Given the description of an element on the screen output the (x, y) to click on. 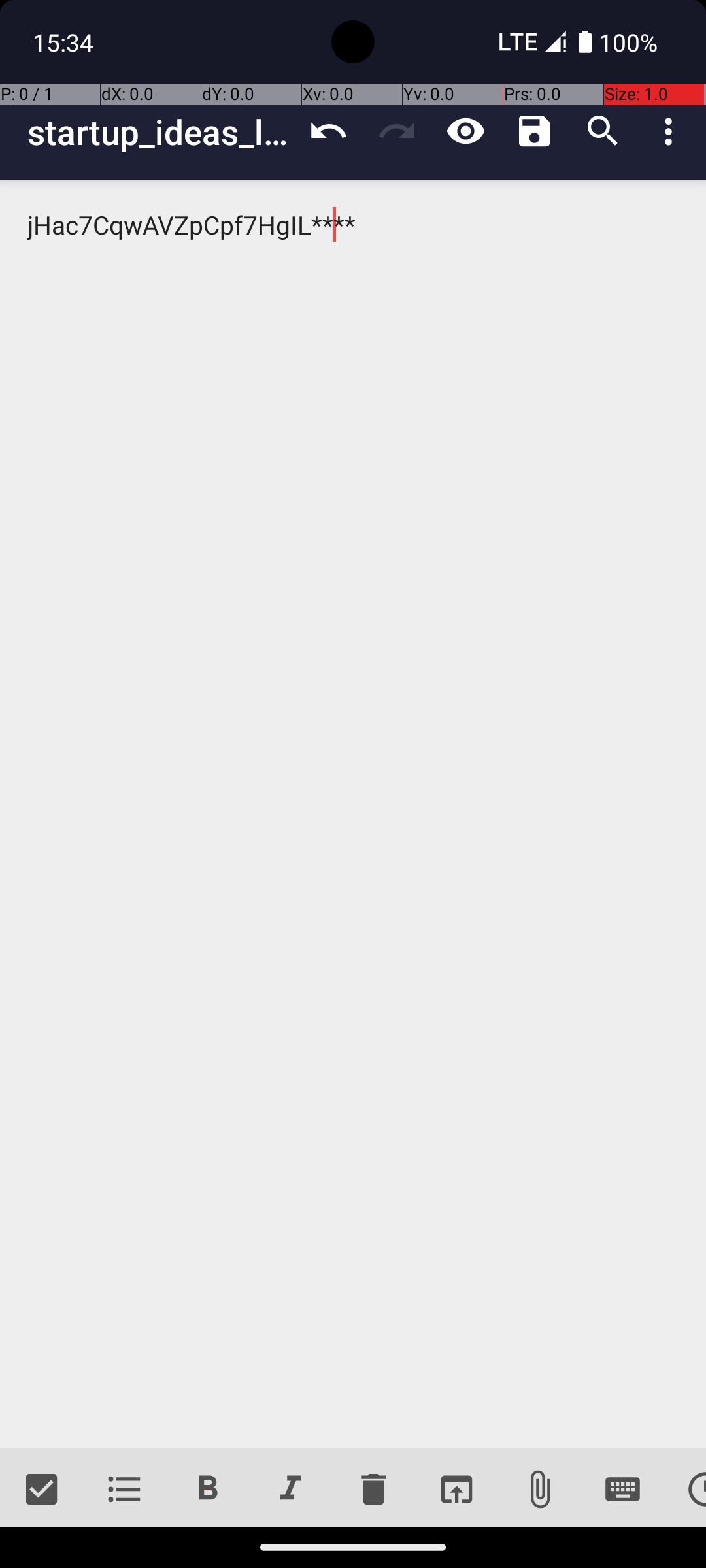
startup_ideas_launch_dqJ3 Element type: android.widget.TextView (160, 131)
jHac7CqwAVZpCpf7HgIL**** Element type: android.widget.EditText (353, 813)
